Given the description of an element on the screen output the (x, y) to click on. 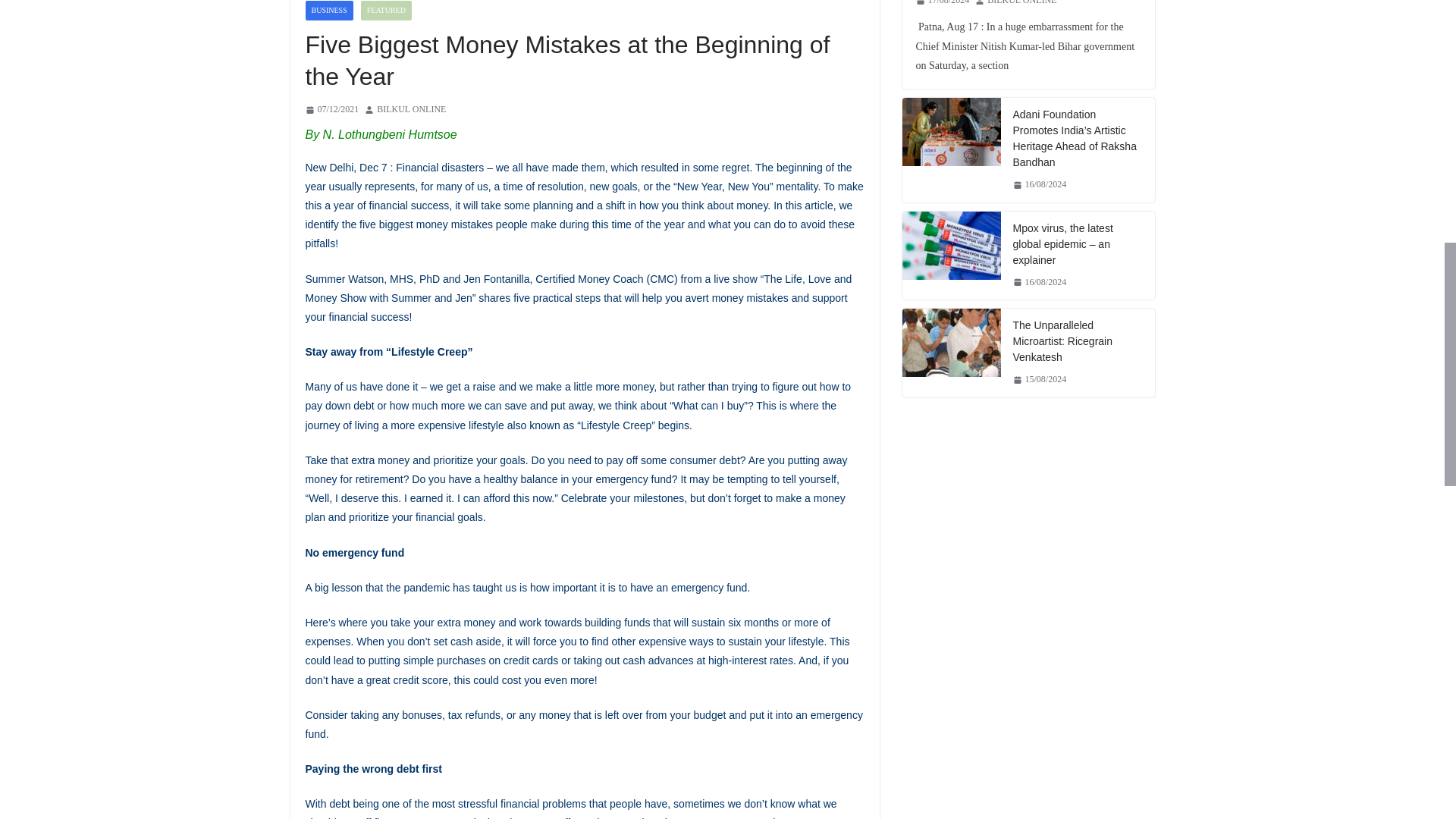
FEATURED (386, 10)
BUSINESS (328, 10)
BILKUL ONLINE (411, 109)
7:35 pm (331, 109)
BILKUL ONLINE (411, 109)
